Given the description of an element on the screen output the (x, y) to click on. 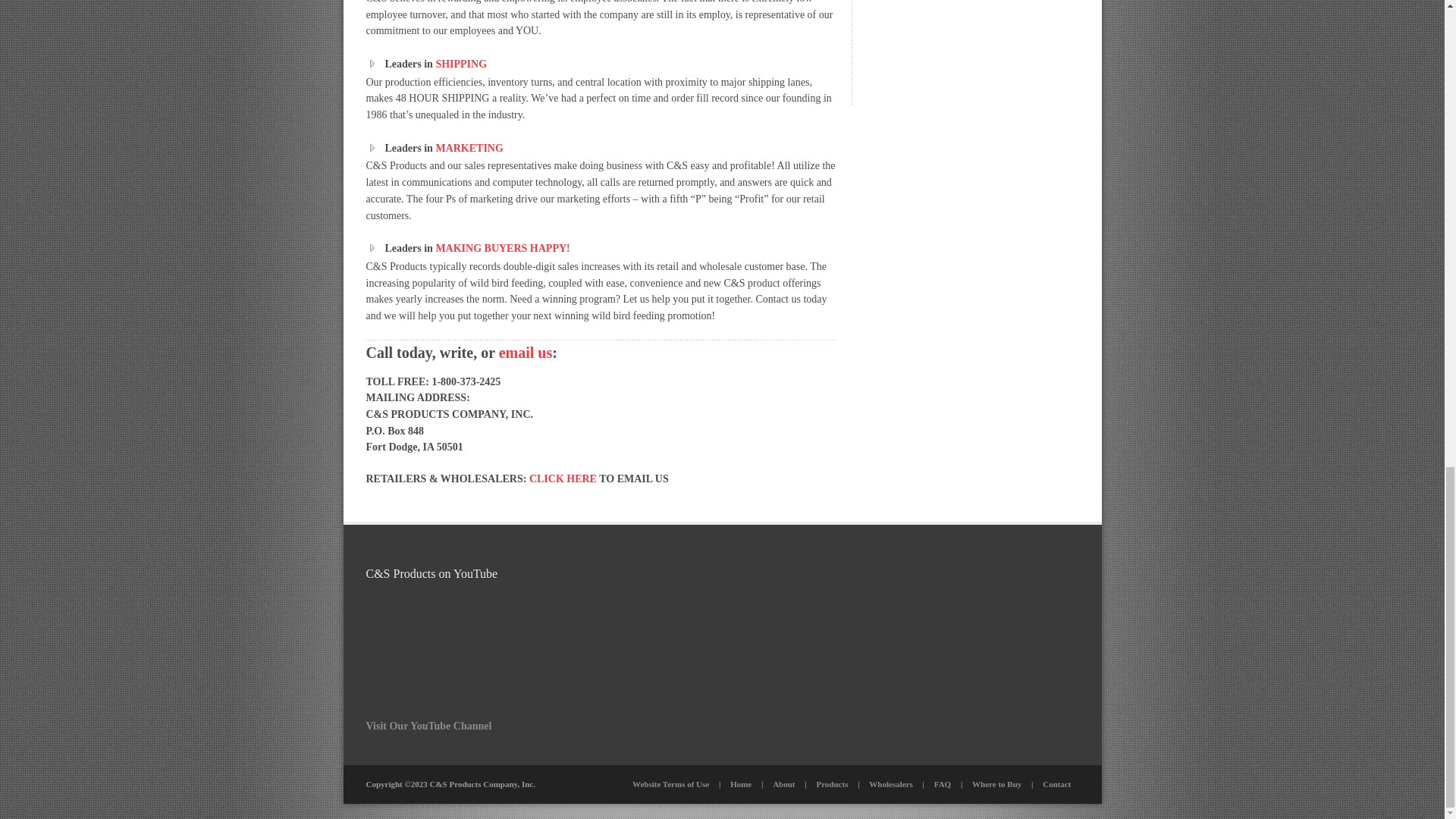
email us (526, 352)
CLICK HERE (562, 478)
Visit Our YouTube Channel (428, 726)
Website Terms of Use (670, 783)
